Given the description of an element on the screen output the (x, y) to click on. 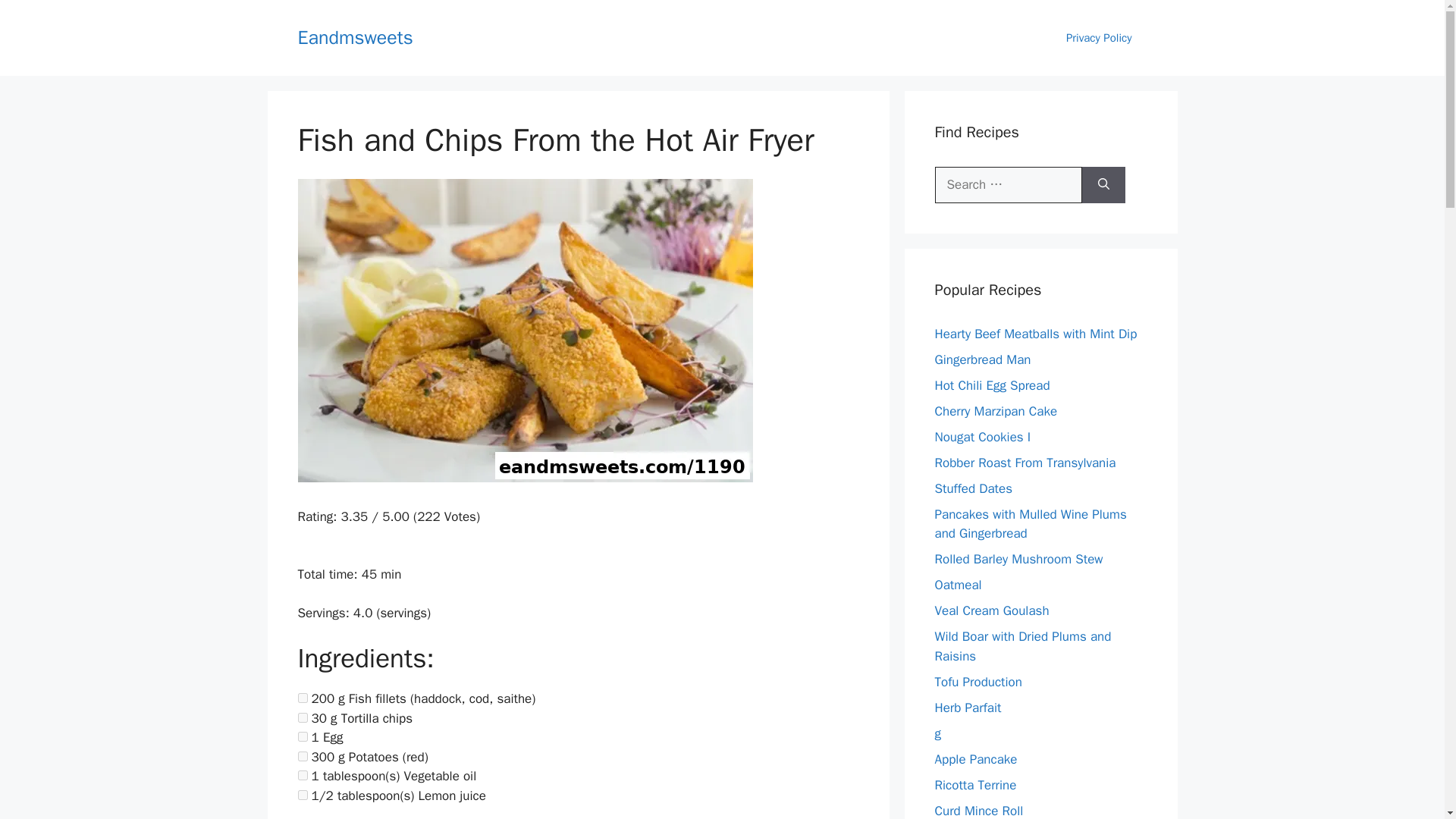
1  Egg (302, 737)
Stuffed Dates (972, 488)
Tofu Production (978, 681)
Gingerbread Man (982, 359)
Eandmsweets (354, 37)
Curd Mince Roll (978, 810)
Herb Parfait (967, 706)
Veal Cream Goulash (991, 610)
Hot Chili Egg Spread (991, 385)
Privacy Policy (1099, 37)
Hearty Beef Meatballs with Mint Dip (1035, 333)
Apple Pancake (975, 758)
Cherry Marzipan Cake (995, 411)
Ricotta Terrine (975, 784)
Wild Boar with Dried Plums and Raisins (1022, 646)
